Given the description of an element on the screen output the (x, y) to click on. 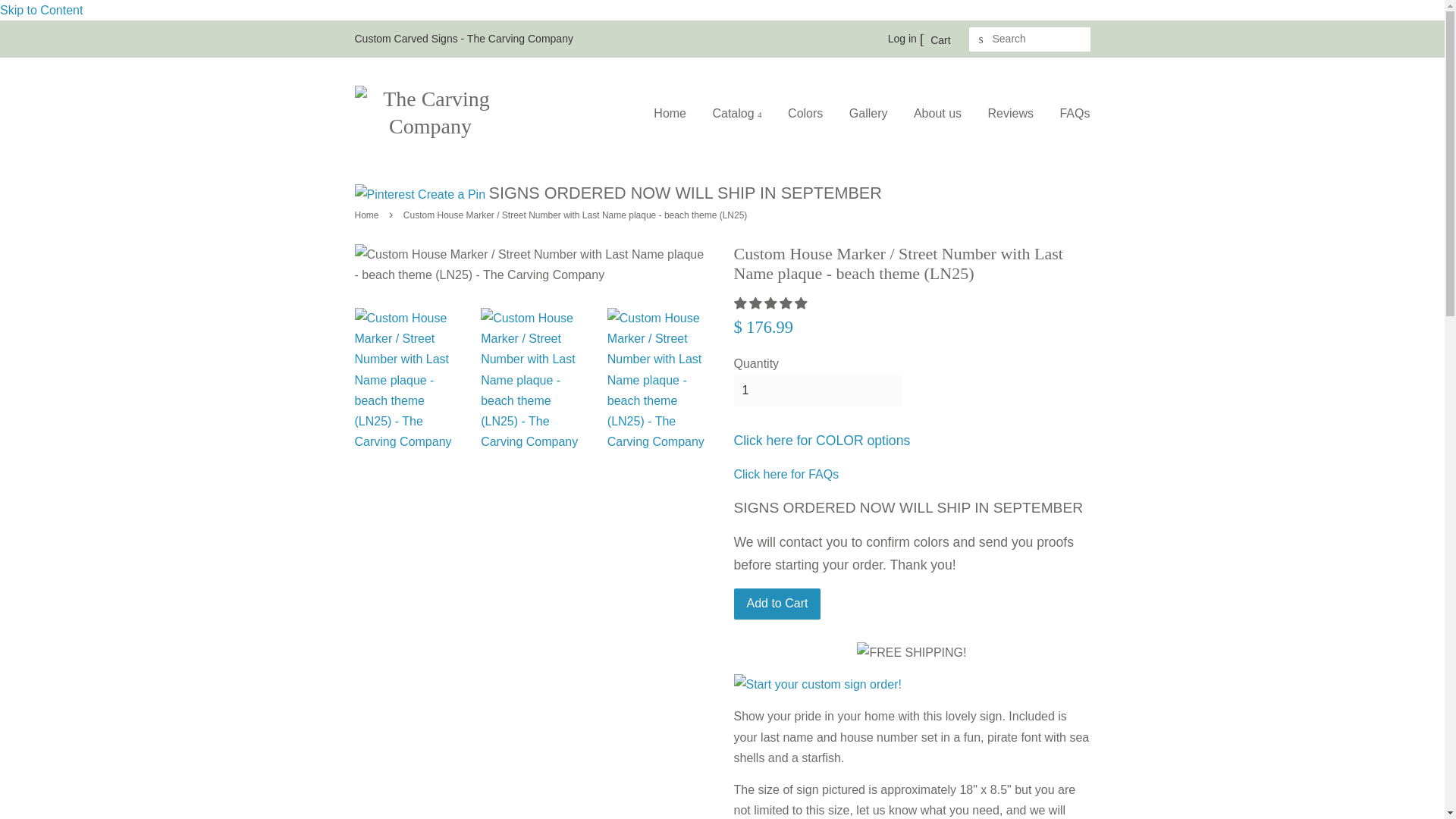
Catalog (736, 113)
Cart (935, 38)
Search (980, 39)
Log in (902, 38)
Custom sign order form (911, 684)
Home (675, 113)
Colors (805, 113)
Back to the frontpage (368, 214)
Skip to Content (41, 10)
1 (817, 390)
